Given the description of an element on the screen output the (x, y) to click on. 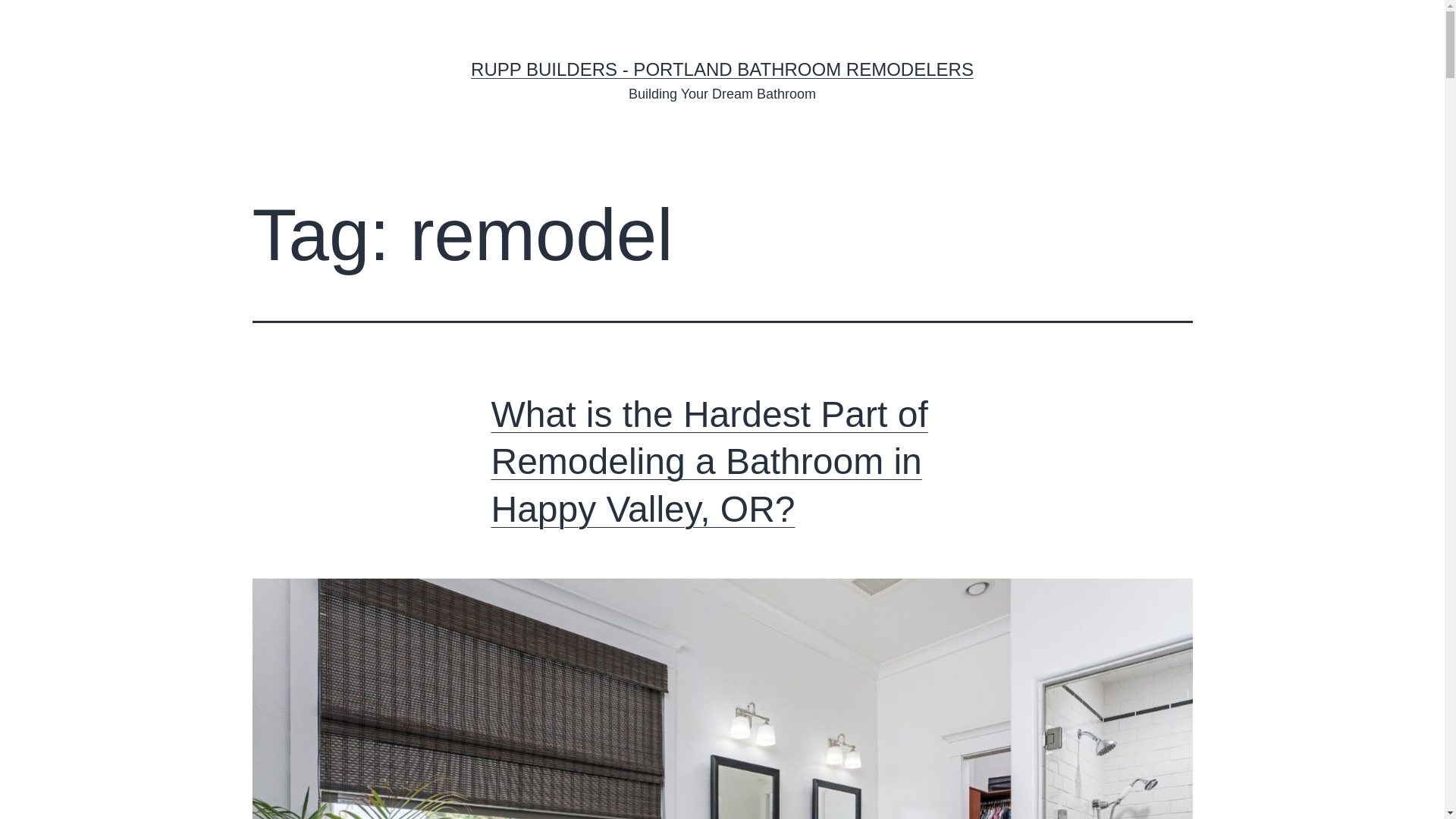
RUPP BUILDERS - PORTLAND BATHROOM REMODELERS (722, 68)
